Given the description of an element on the screen output the (x, y) to click on. 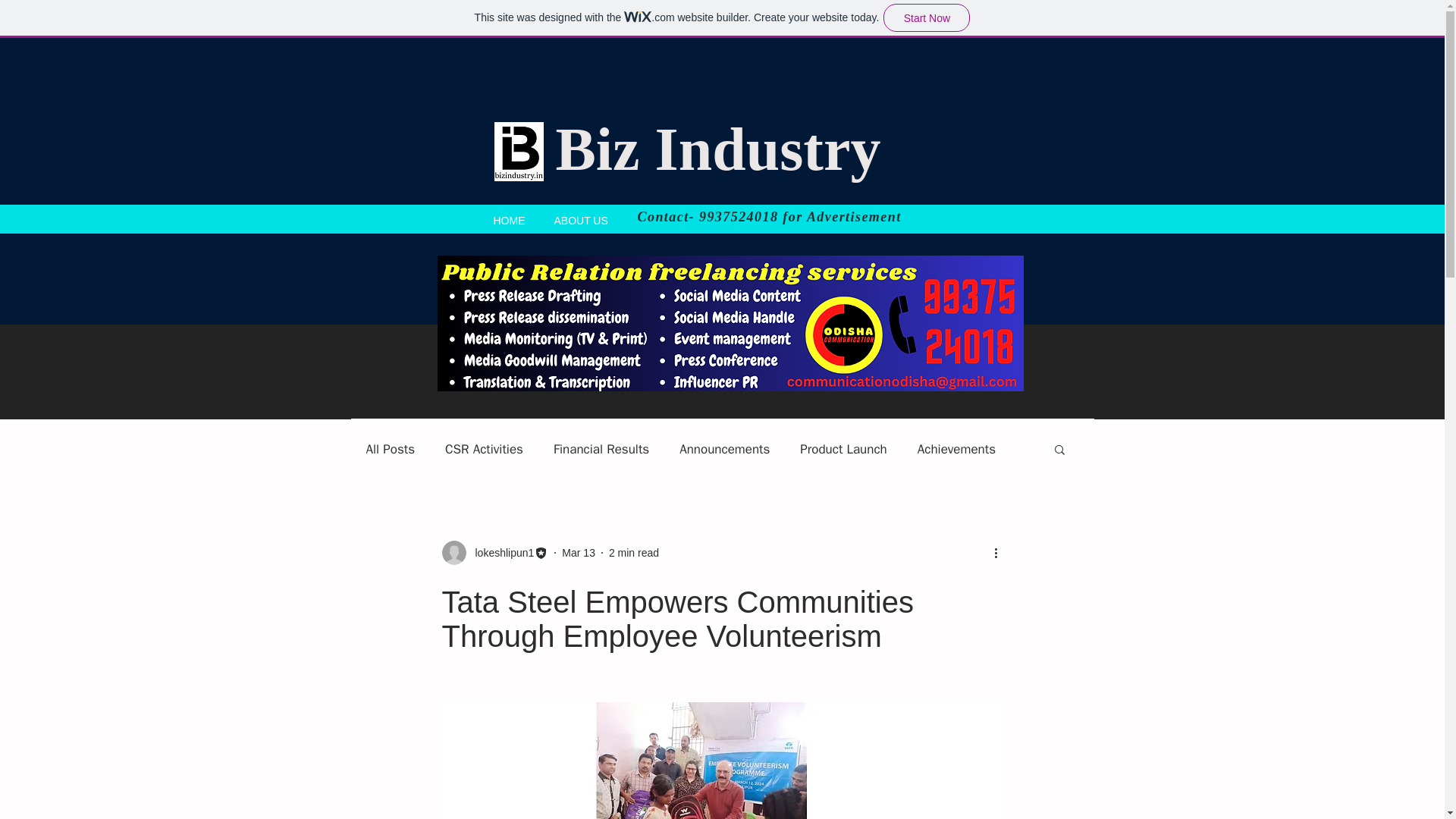
Mar 13 (578, 551)
lokeshlipun1 (499, 552)
Financial Results (601, 448)
2 min read (633, 551)
Product Launch (842, 448)
CSR Activities (483, 448)
HOME (509, 218)
Biz Industry (717, 149)
ABOUT US (581, 218)
Achievements (956, 448)
